Given the description of an element on the screen output the (x, y) to click on. 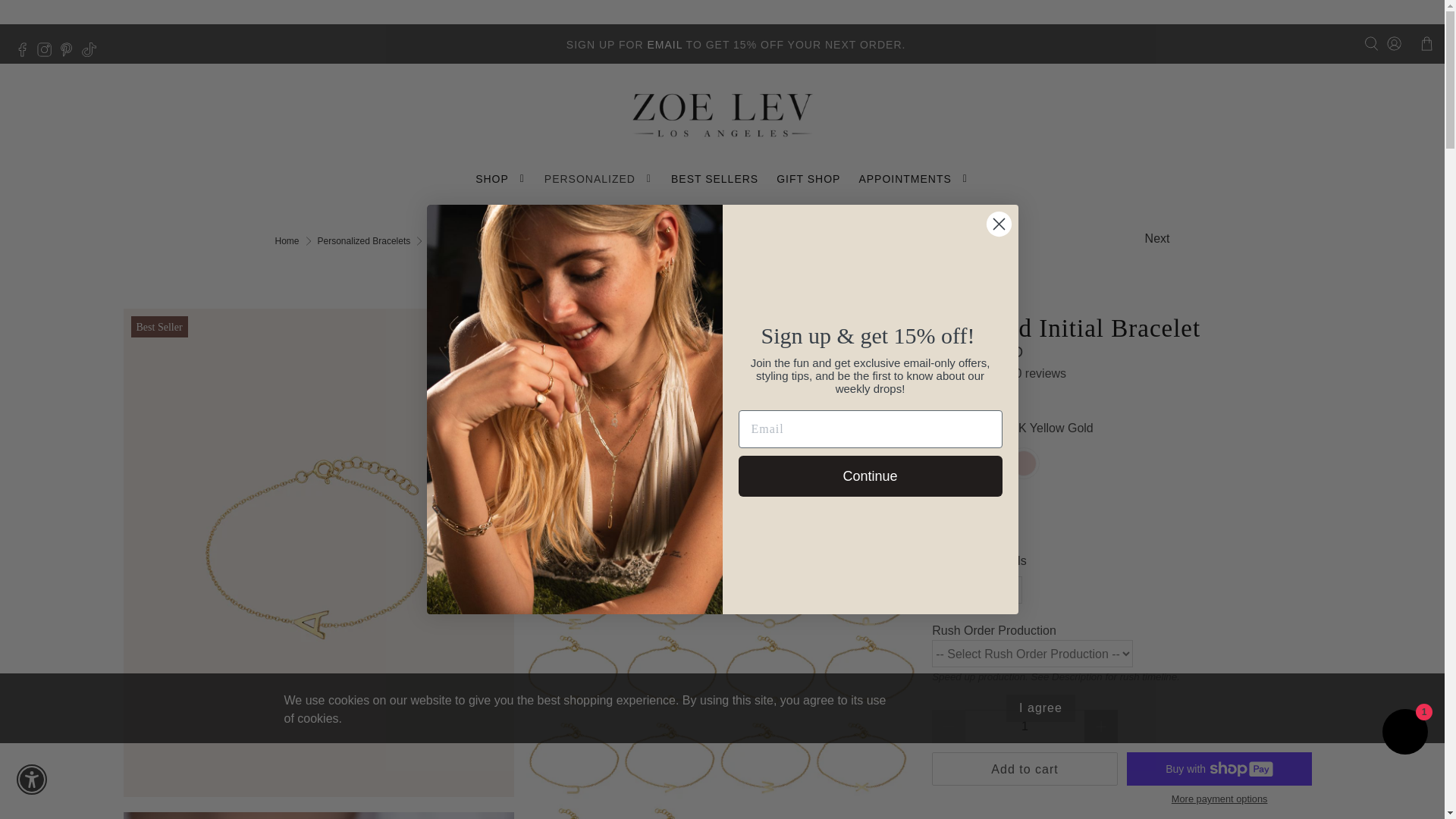
Zoe Lev Jewelry  on Pinterest (70, 52)
Zoe Lev Jewelry  on TikTok (92, 52)
Zoe Lev Jewelry  on Facebook (25, 52)
Zoe Lev Jewelry  on Instagram (48, 52)
14k Gold Initial Bracelet (317, 815)
EMAIL (664, 44)
Personalized Bracelets (363, 240)
Zoe Lev Jewelry  (286, 240)
1 (1024, 726)
Zoe Lev Jewelry  (721, 114)
Next (1157, 239)
SHOP (500, 178)
